Given the description of an element on the screen output the (x, y) to click on. 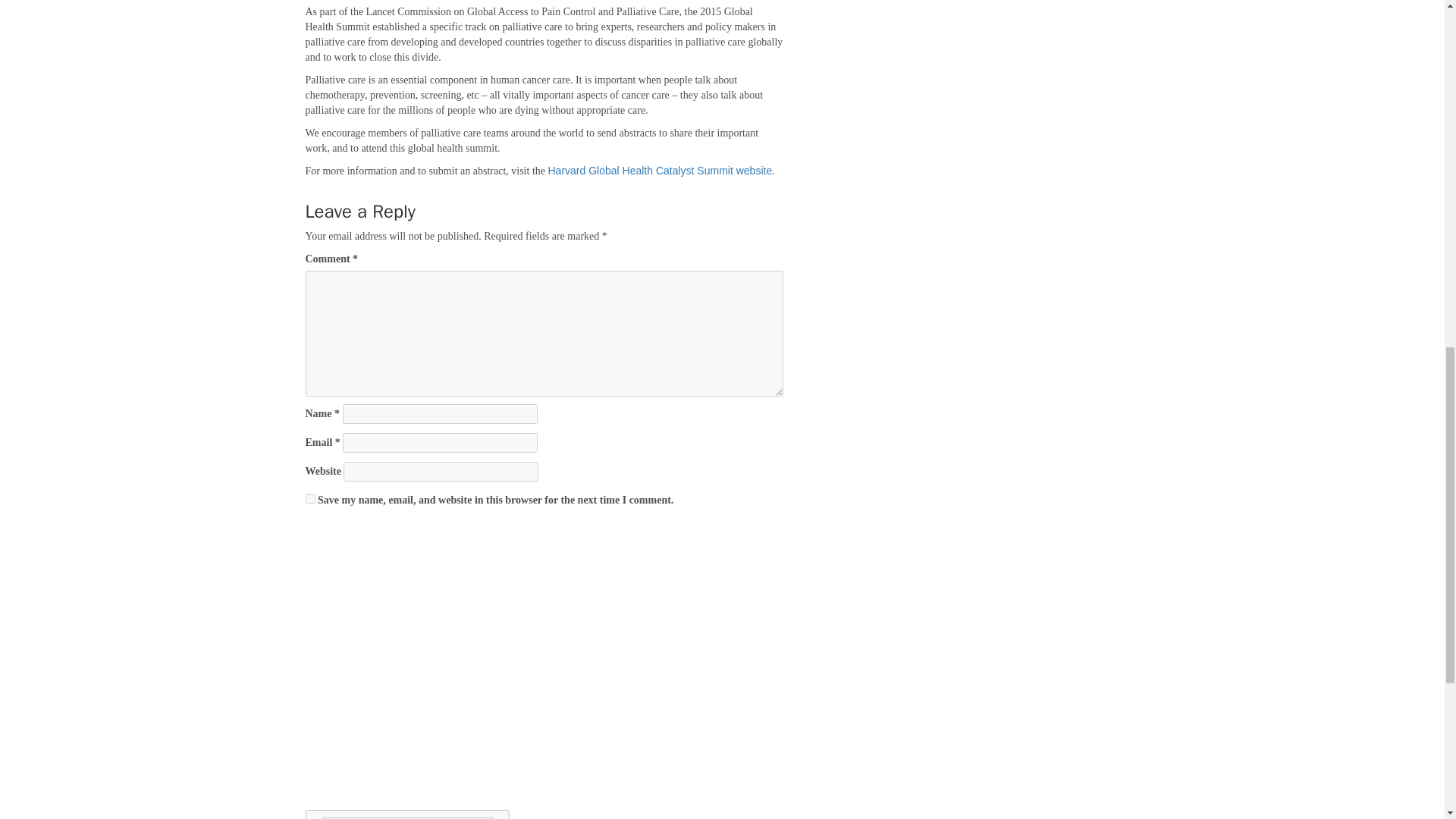
yes (309, 498)
